Given the description of an element on the screen output the (x, y) to click on. 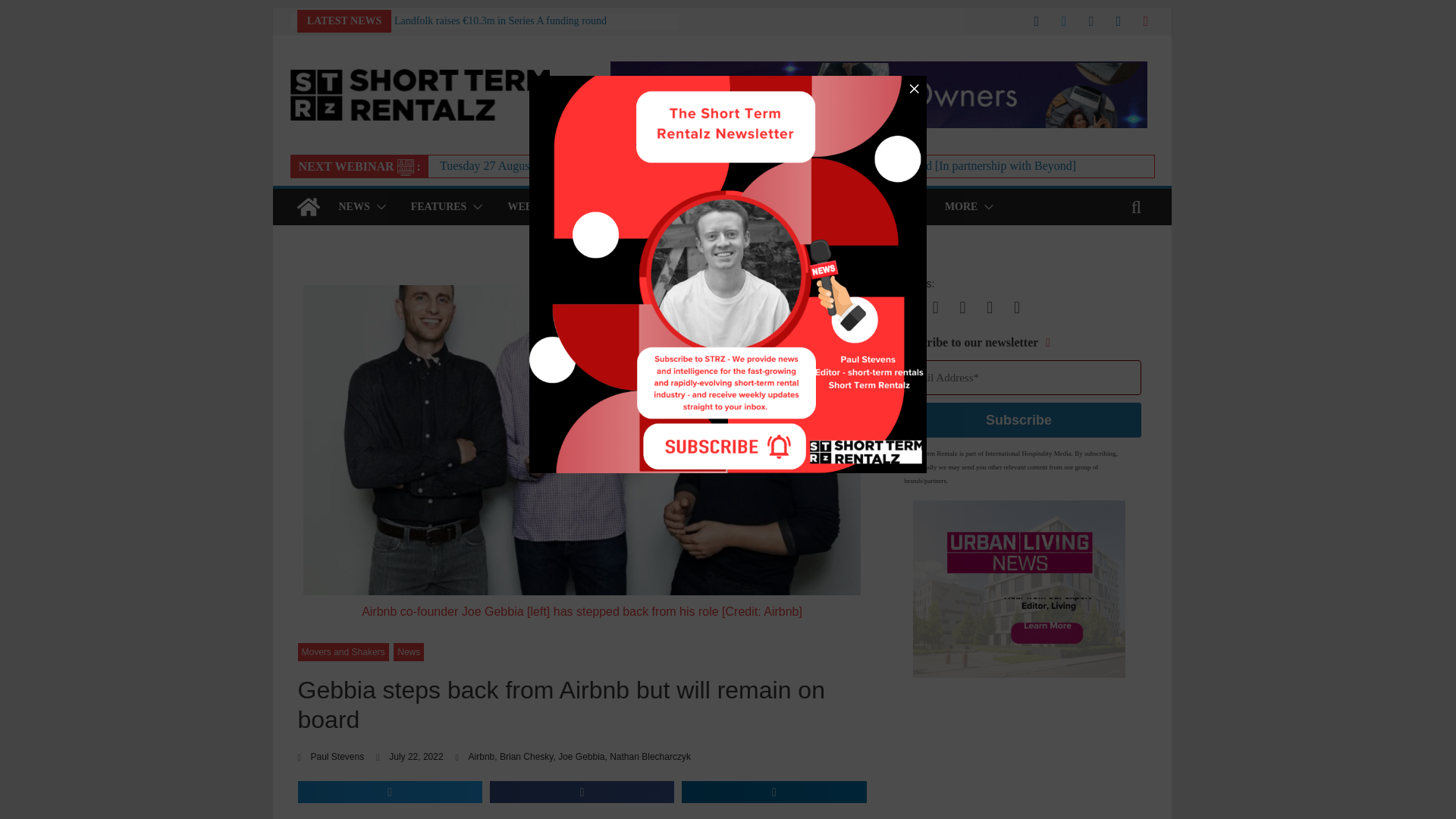
Subscribe (1018, 419)
Short Term Rentals (307, 207)
NEWS (353, 206)
